Given the description of an element on the screen output the (x, y) to click on. 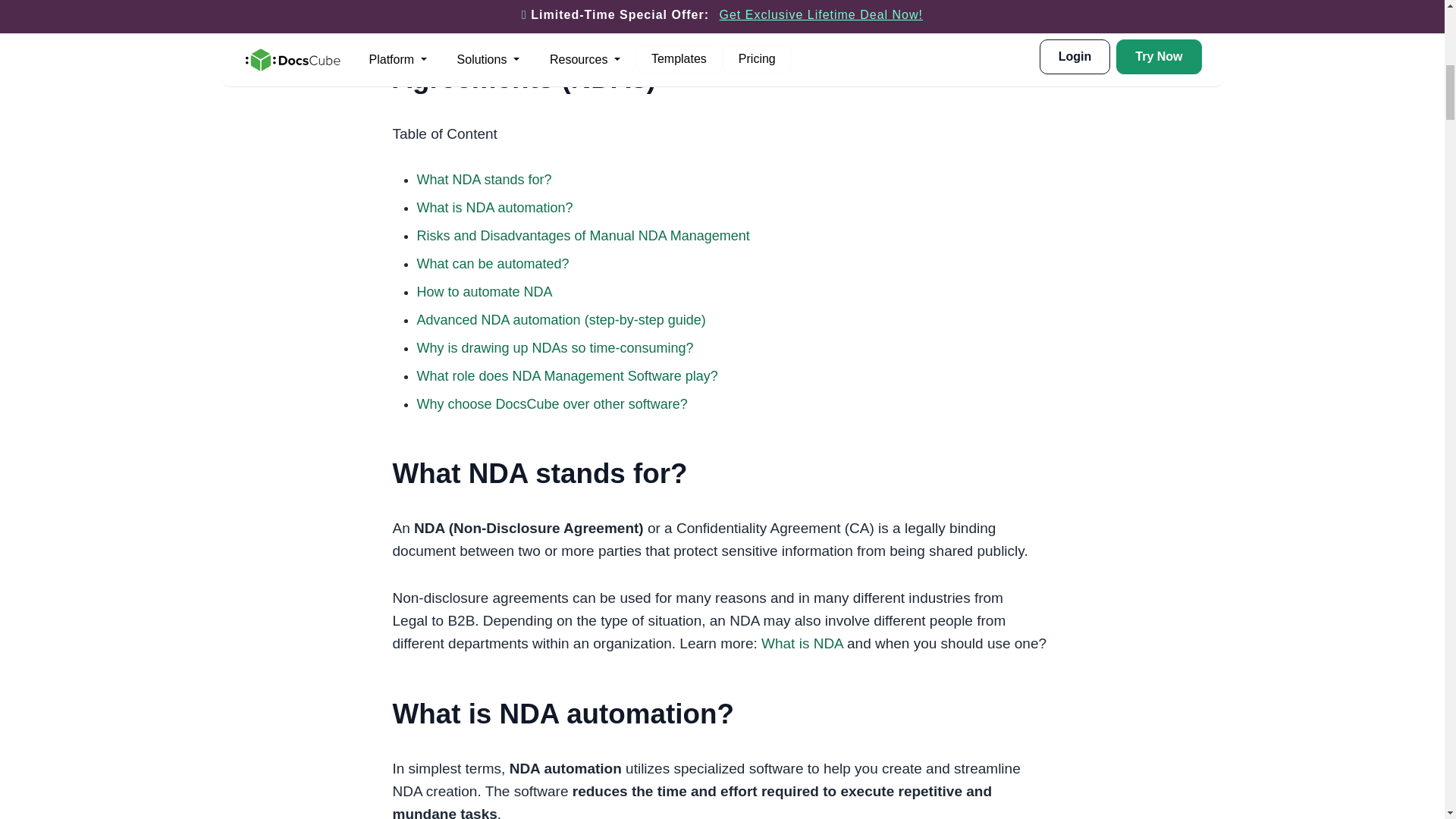
Risks and Disadvantages of Manual NDA Management (582, 235)
What NDA stands for? (483, 179)
How to automate NDA (484, 291)
Why is drawing up NDAs so time-consuming? (555, 347)
Why choose DocsCube over other software? (551, 403)
What role does NDA Management Software play? (566, 376)
What can be automated? (492, 263)
What is NDA automation? (494, 207)
What is NDA (802, 643)
